Given the description of an element on the screen output the (x, y) to click on. 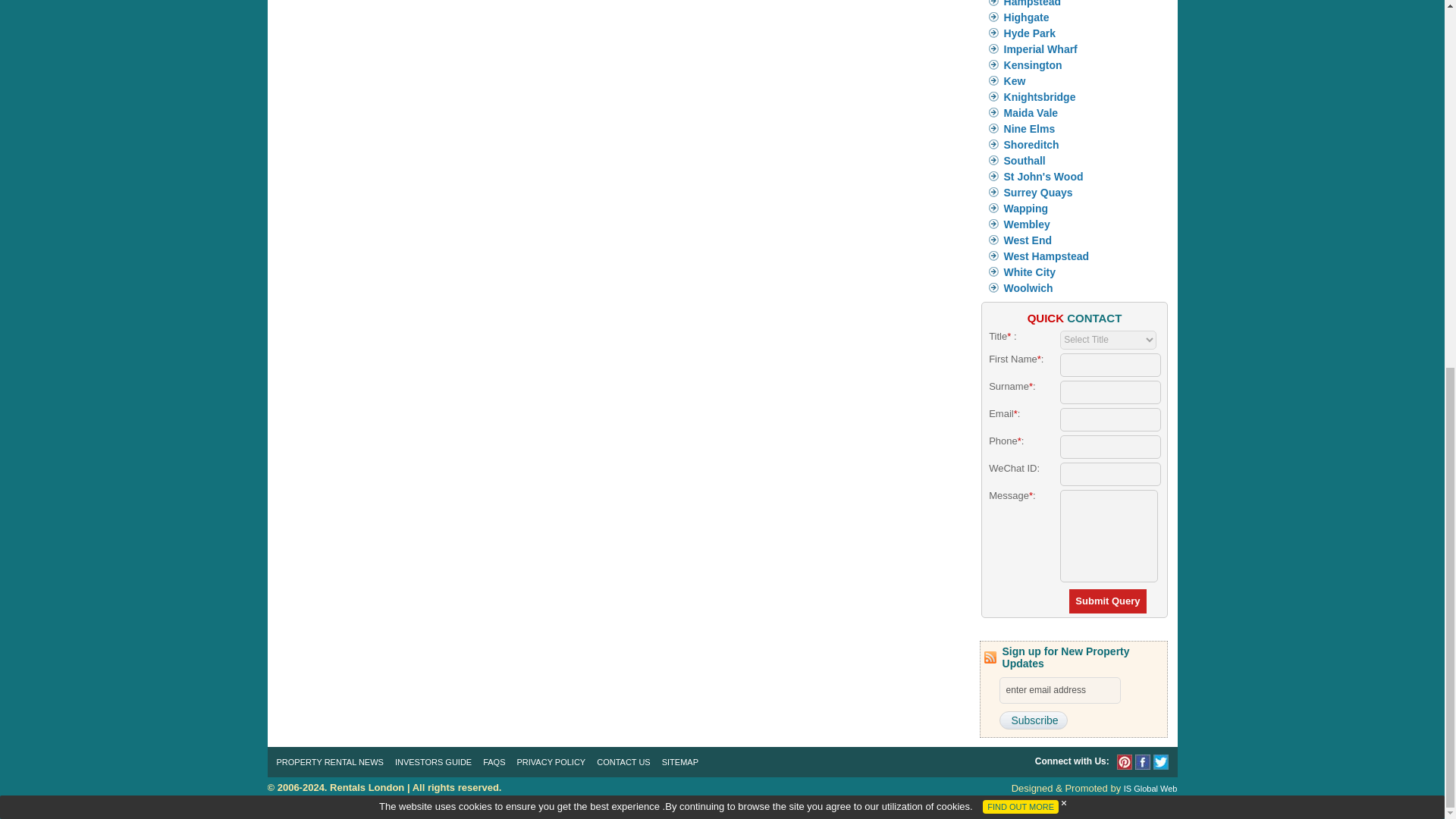
enter email address (1059, 690)
Subscribe (1032, 720)
